Given the description of an element on the screen output the (x, y) to click on. 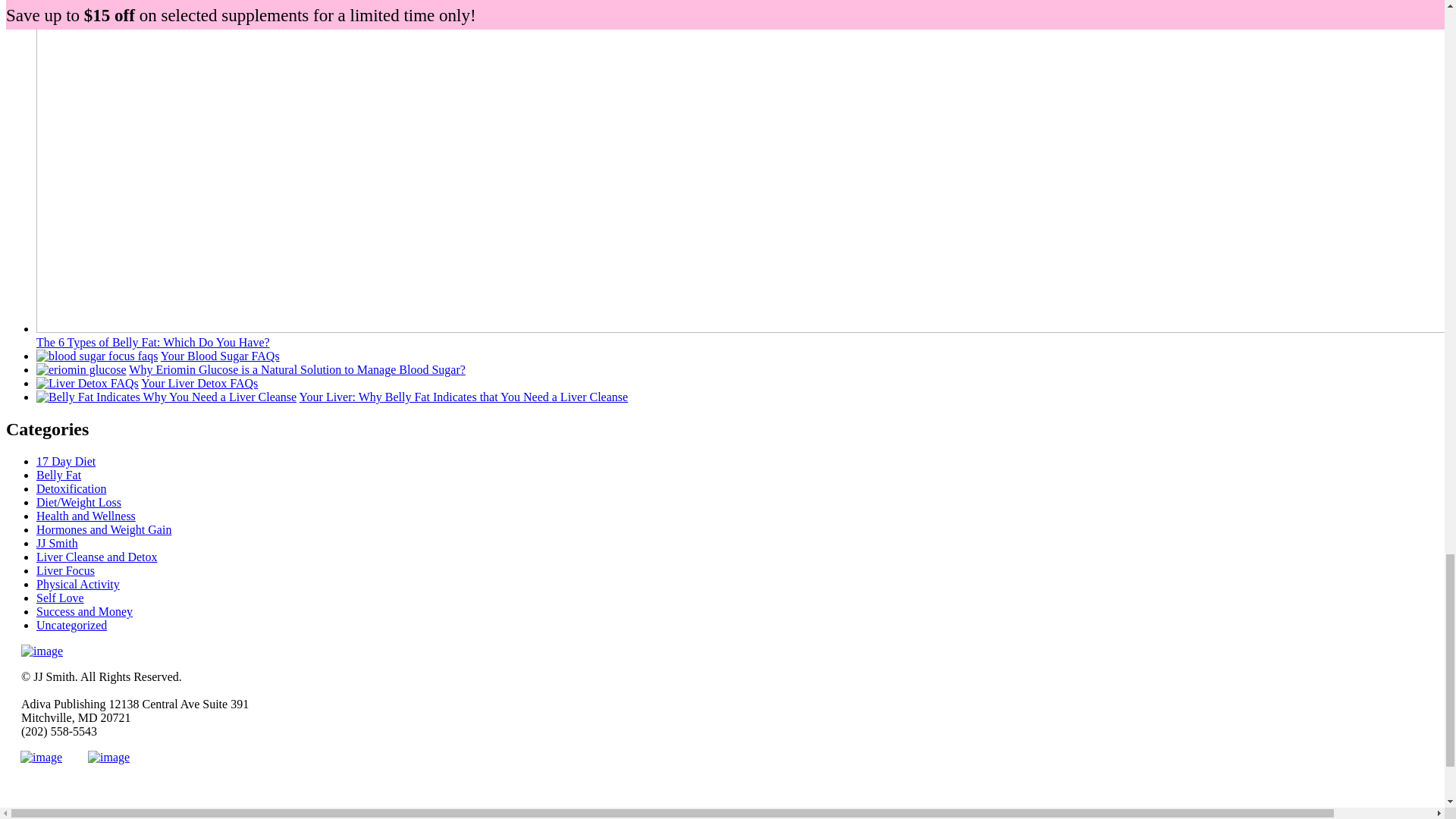
JJ Smith (57, 543)
Uncategorized (71, 625)
Physical Activity (77, 584)
Belly Fat (58, 474)
17 Day Diet (66, 461)
Your Blood Sugar FAQs (219, 355)
Success and Money (84, 611)
Health and Wellness (85, 515)
